Given the description of an element on the screen output the (x, y) to click on. 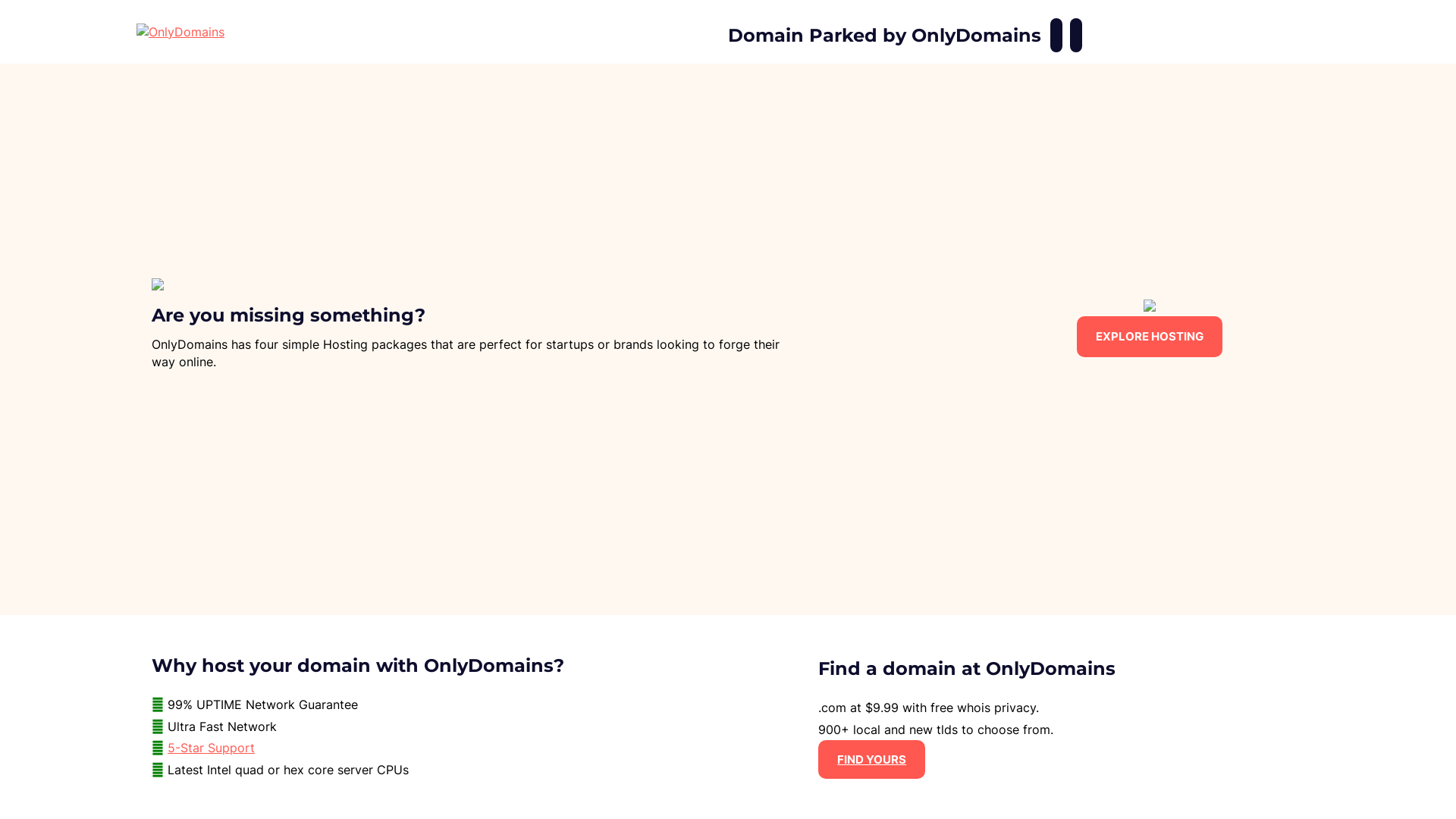
FIND YOURS Element type: text (871, 759)
5-Star Support Element type: text (210, 747)
OnlyDomains Facebook Element type: hover (1056, 35)
EXPLORE HOSTING Element type: text (1149, 336)
OnlyDomains Twitter Element type: hover (1075, 35)
